Given the description of an element on the screen output the (x, y) to click on. 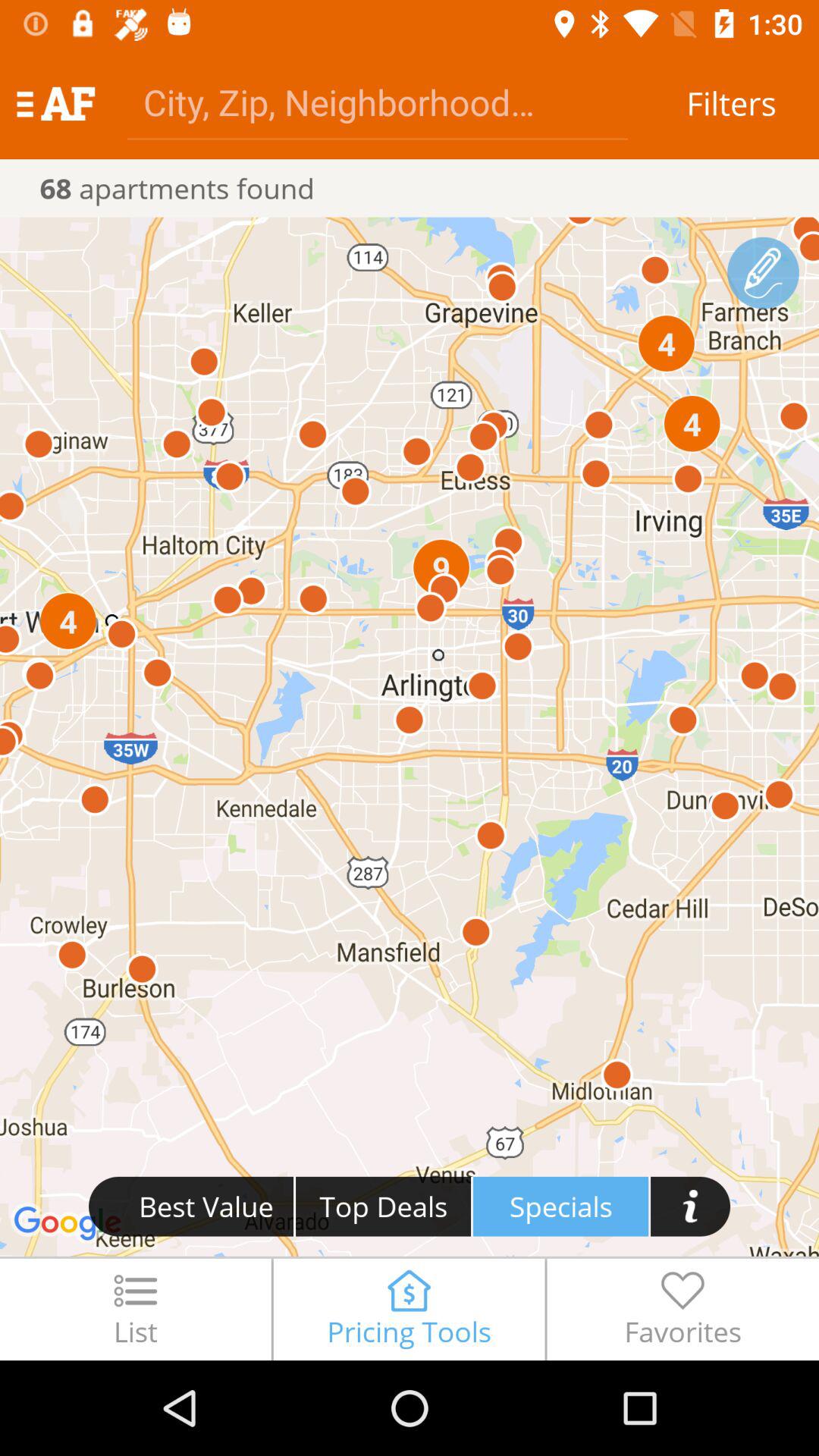
open the item to the right of the list item (408, 1309)
